Given the description of an element on the screen output the (x, y) to click on. 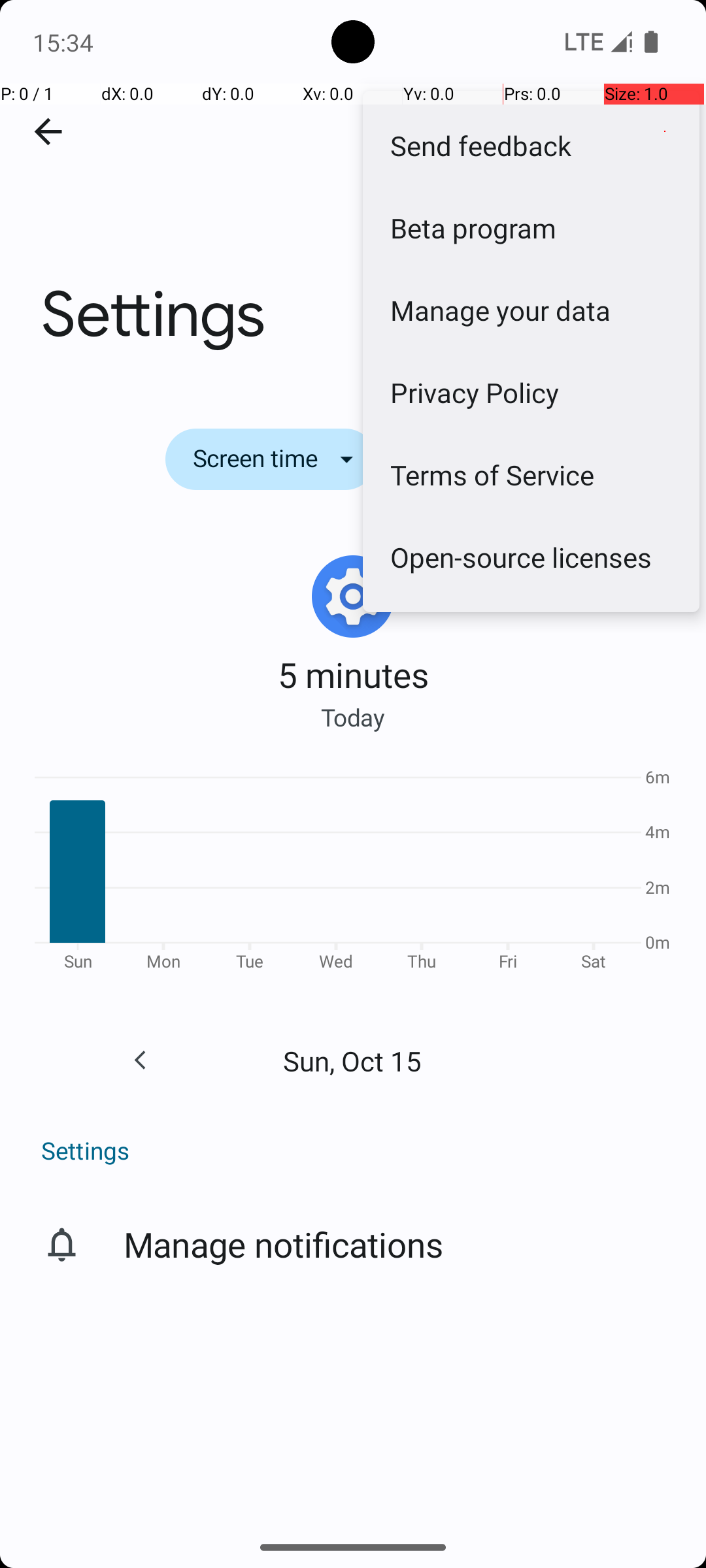
Beta program Element type: android.widget.TextView (531, 227)
Manage your data Element type: android.widget.TextView (531, 309)
Open-source licenses Element type: android.widget.TextView (531, 556)
